Given the description of an element on the screen output the (x, y) to click on. 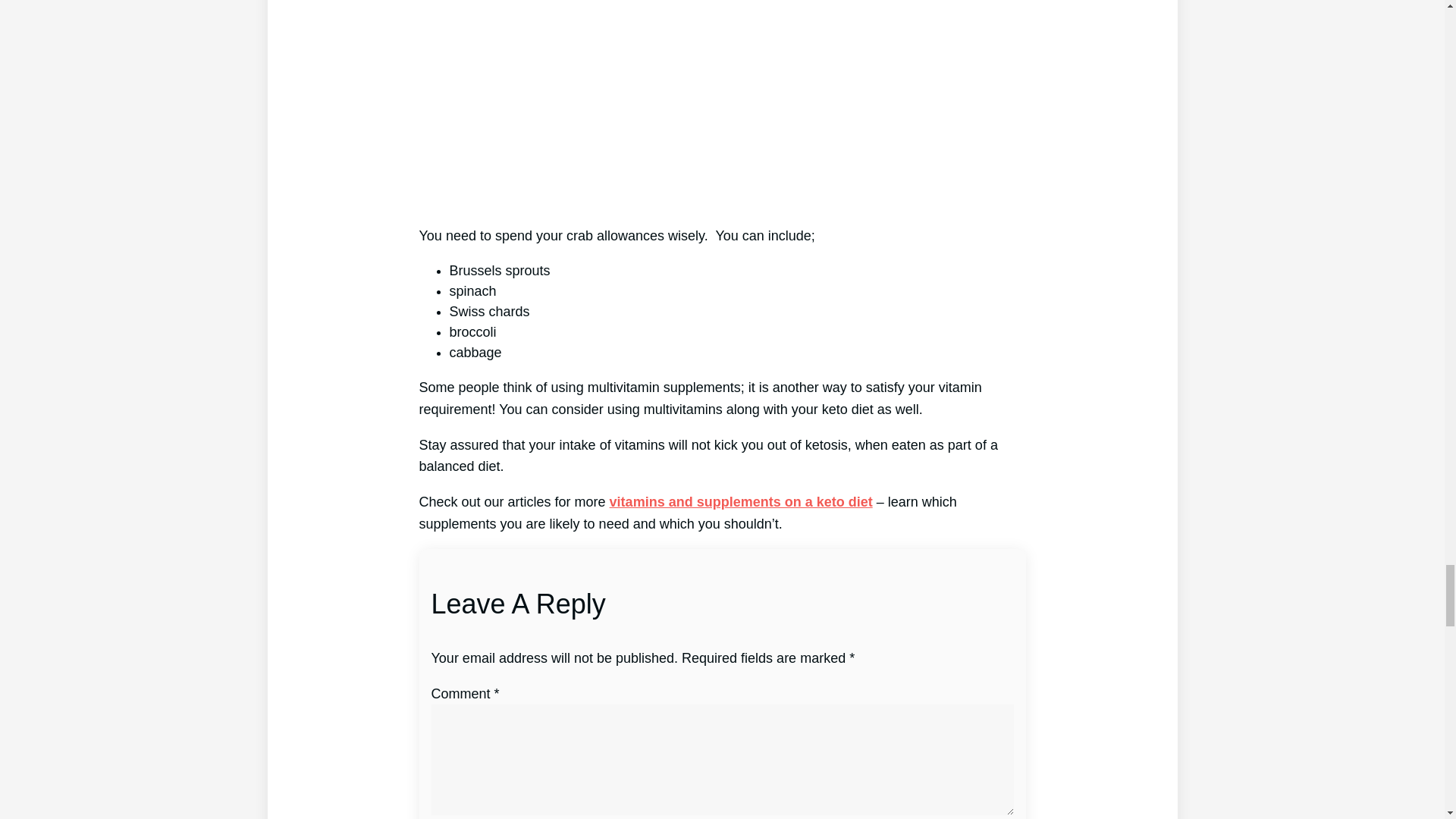
vitamins and supplements on a keto diet (741, 501)
